Given the description of an element on the screen output the (x, y) to click on. 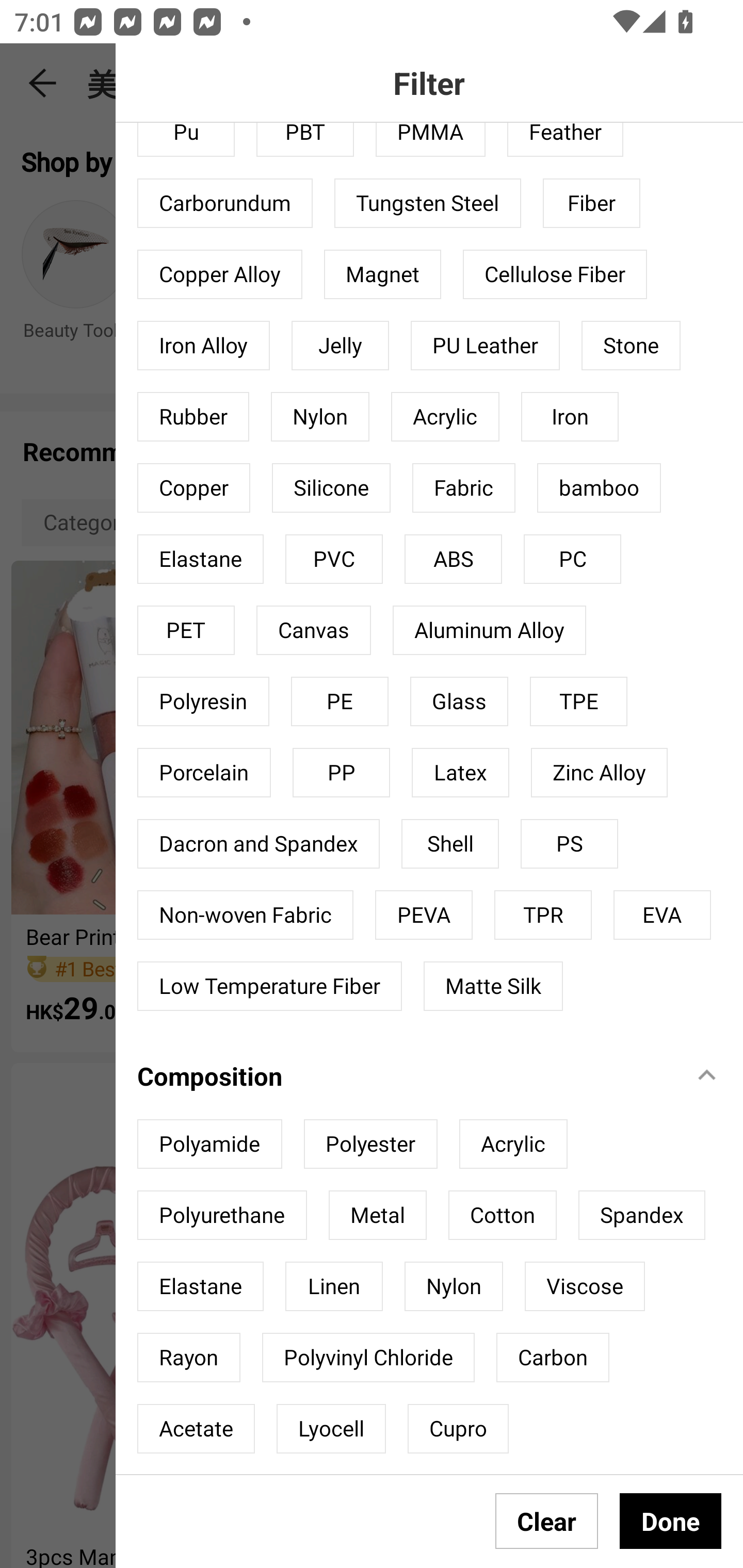
Pu (185, 139)
PBT (304, 139)
PMMA (430, 139)
Feather (565, 139)
Carborundum (224, 202)
Tungsten Steel (427, 202)
Fiber (591, 202)
Copper Alloy (219, 274)
Magnet (382, 274)
Cellulose Fiber (554, 274)
Iron Alloy (203, 345)
Jelly (340, 345)
PU Leather (484, 345)
Stone (630, 345)
Rubber (192, 417)
Nylon (320, 417)
Acrylic (444, 417)
Iron (569, 417)
Copper (193, 487)
Silicone (330, 487)
Fabric (463, 487)
bamboo (599, 487)
Elastane (200, 558)
PVC (333, 558)
ABS (453, 558)
PC (572, 558)
PET (185, 630)
Canvas (313, 630)
Aluminum Alloy (489, 630)
Polyresin (202, 701)
PE (339, 701)
Glass (459, 701)
TPE (578, 701)
Porcelain (204, 772)
PP (341, 772)
Latex (459, 772)
Zinc Alloy (599, 772)
Dacron and Spandex (258, 843)
Shell (450, 843)
PS (569, 843)
Non-woven Fabric (245, 914)
PEVA (423, 914)
TPR (543, 914)
EVA (662, 914)
Low Temperature Fiber (269, 986)
Matte Silk (493, 986)
Composition (403, 1075)
Polyamide (209, 1143)
Polyester (370, 1143)
Acrylic (513, 1143)
Polyurethane (221, 1215)
Metal (377, 1215)
Cotton (502, 1215)
Spandex (641, 1215)
Elastane (200, 1286)
Linen (333, 1286)
Nylon (453, 1286)
Viscose (584, 1286)
Rayon (188, 1357)
Polyvinyl Chloride (368, 1357)
Carbon (552, 1357)
Acetate (195, 1428)
Lyocell (330, 1428)
Cupro (457, 1428)
Clear (546, 1520)
Done (670, 1520)
